Given the description of an element on the screen output the (x, y) to click on. 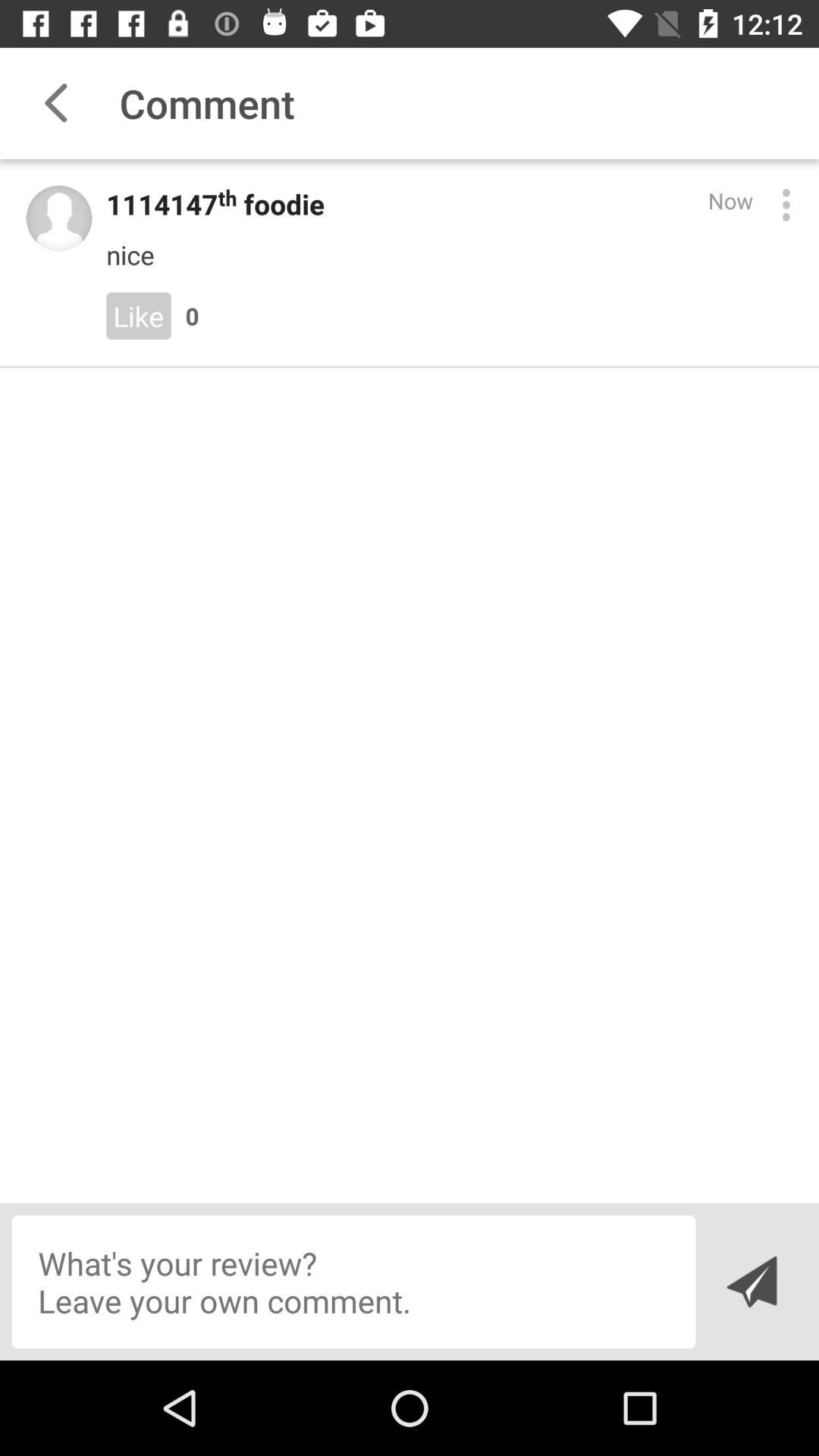
comment/review text box (353, 1281)
